Given the description of an element on the screen output the (x, y) to click on. 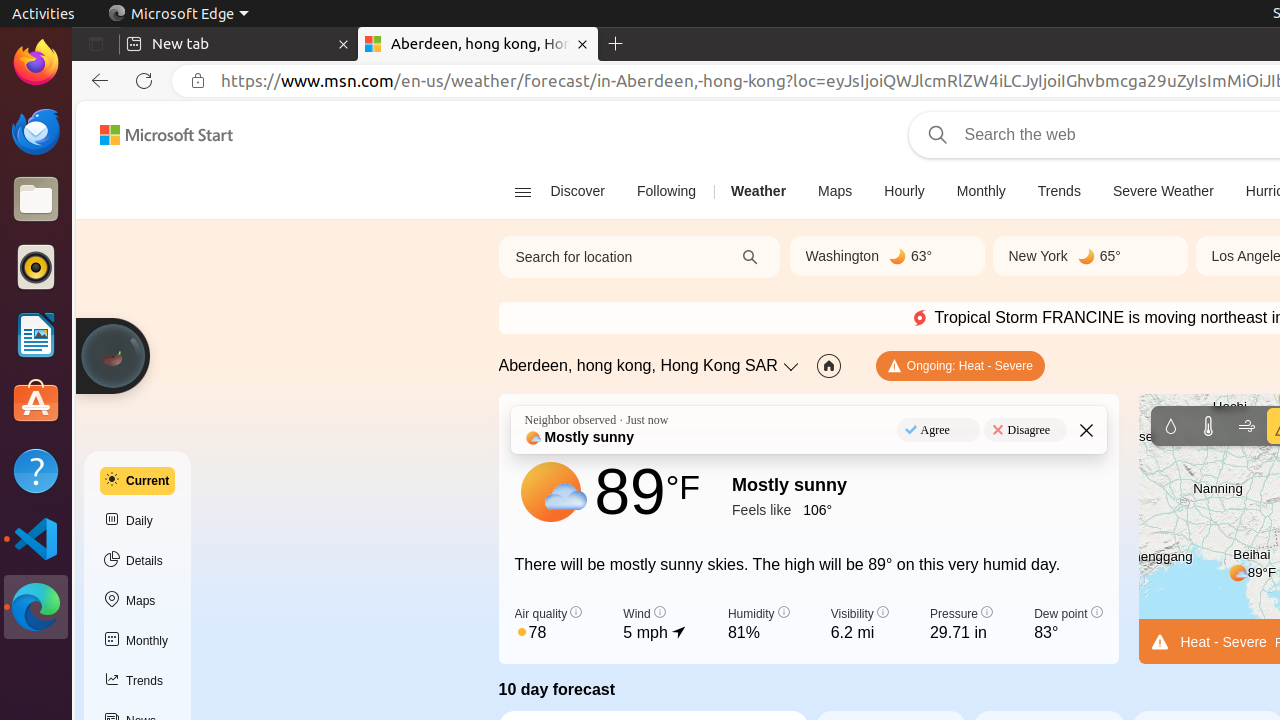
Washington Element type: push-button (842, 256)
Skip to content Element type: push-button (158, 135)
Skip to footer Element type: push-button (153, 135)
Trends Element type: link (1059, 192)
Humidity 81% Element type: link (758, 625)
